Given the description of an element on the screen output the (x, y) to click on. 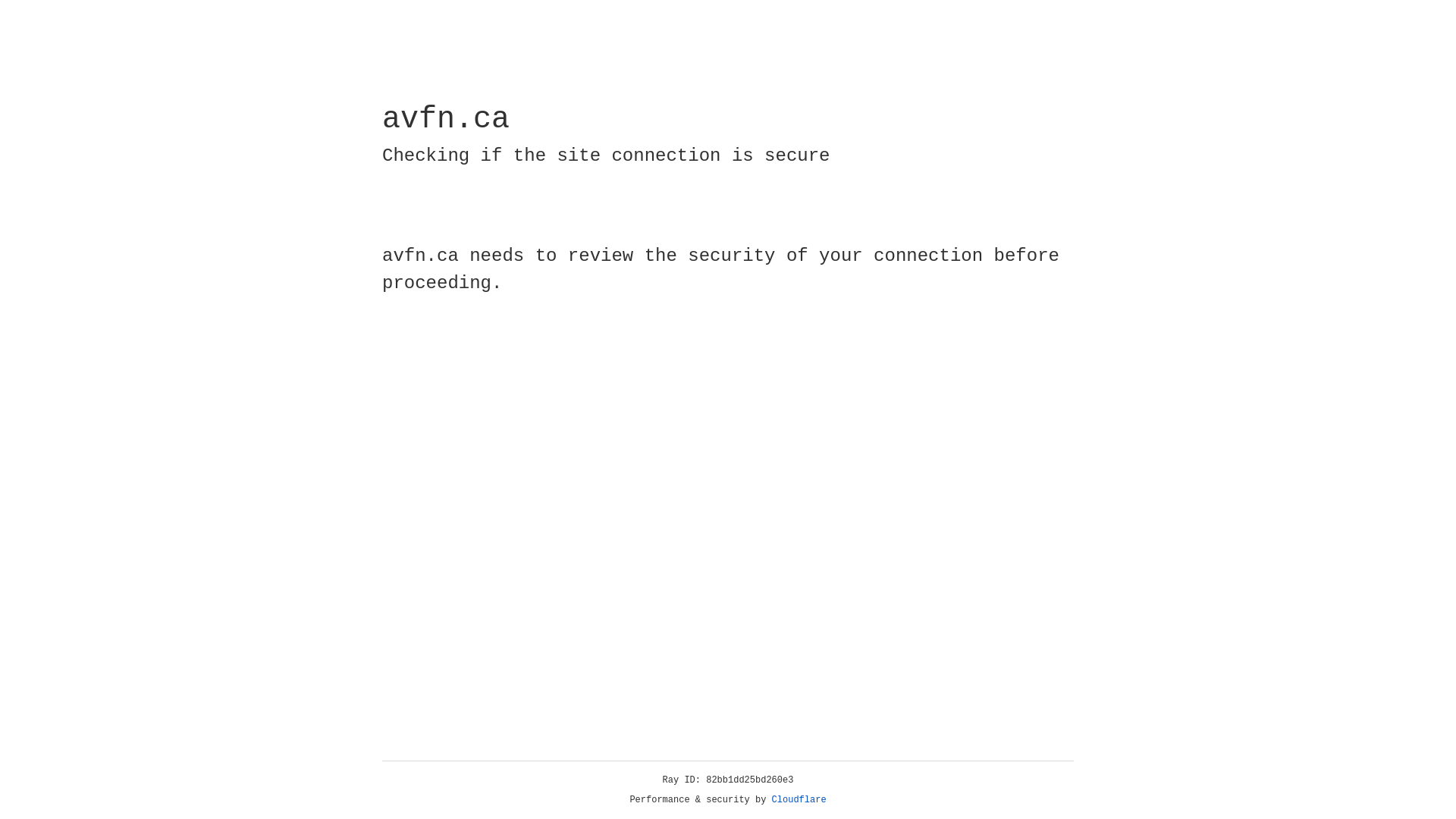
Cloudflare Element type: text (798, 799)
